Given the description of an element on the screen output the (x, y) to click on. 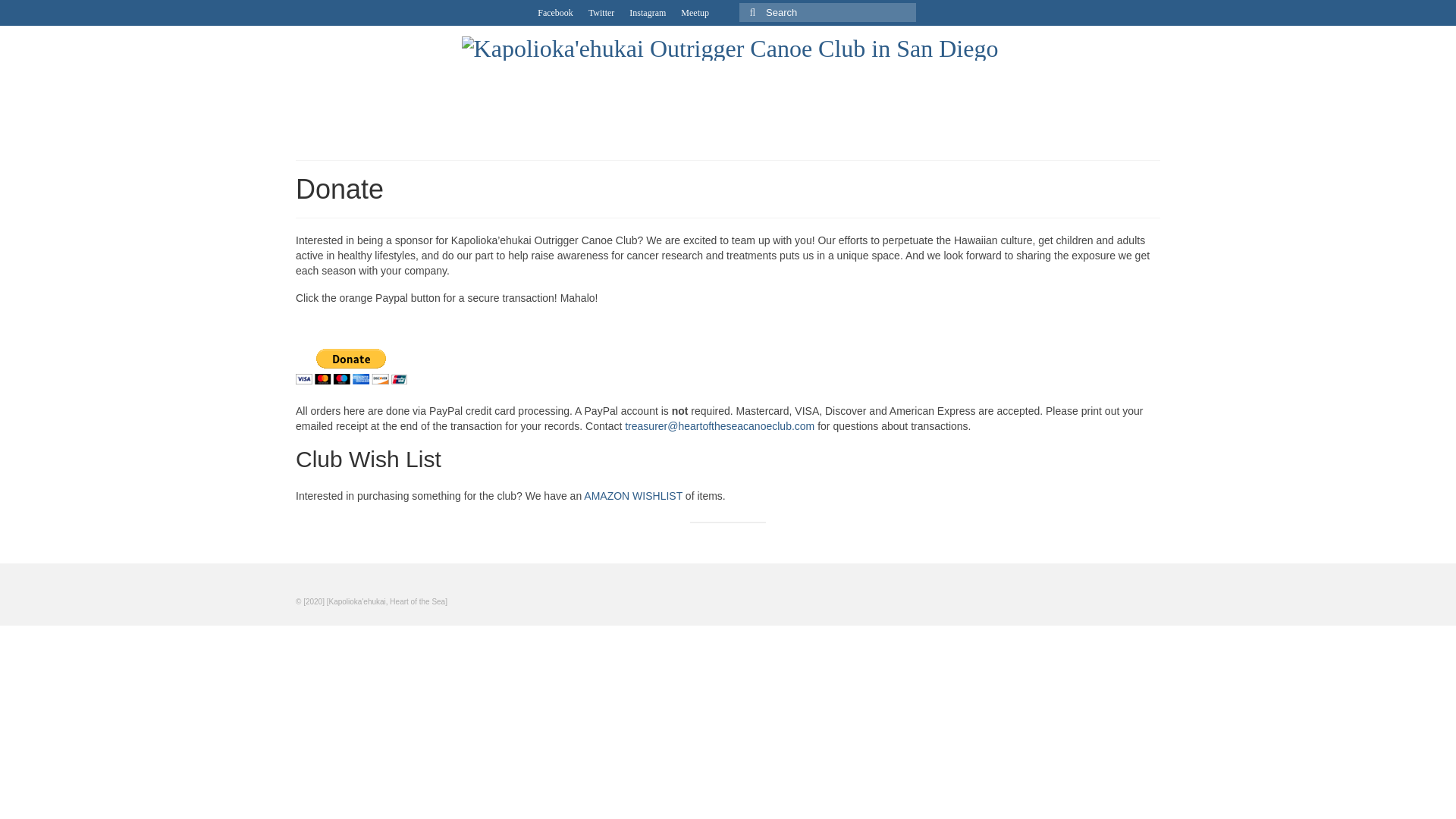
Facebook (554, 12)
Twitter (600, 12)
Meetup (694, 12)
Calendar (651, 83)
About KPEOCC (366, 83)
Events (794, 83)
Instagram (646, 12)
Join us (509, 83)
